Given the description of an element on the screen output the (x, y) to click on. 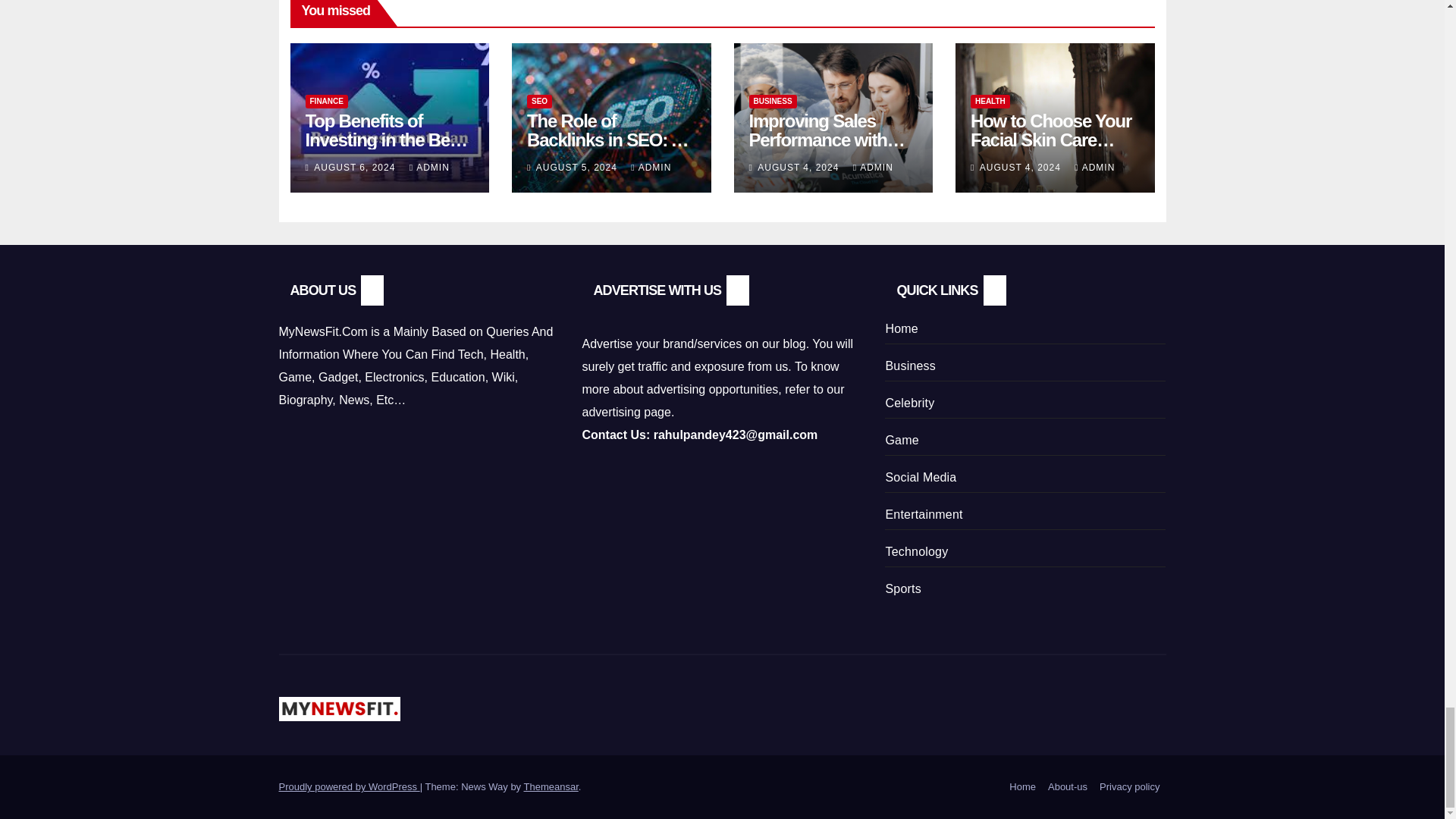
Permalink to: Improving Sales Performance with ERP Acumatica (827, 139)
